Given the description of an element on the screen output the (x, y) to click on. 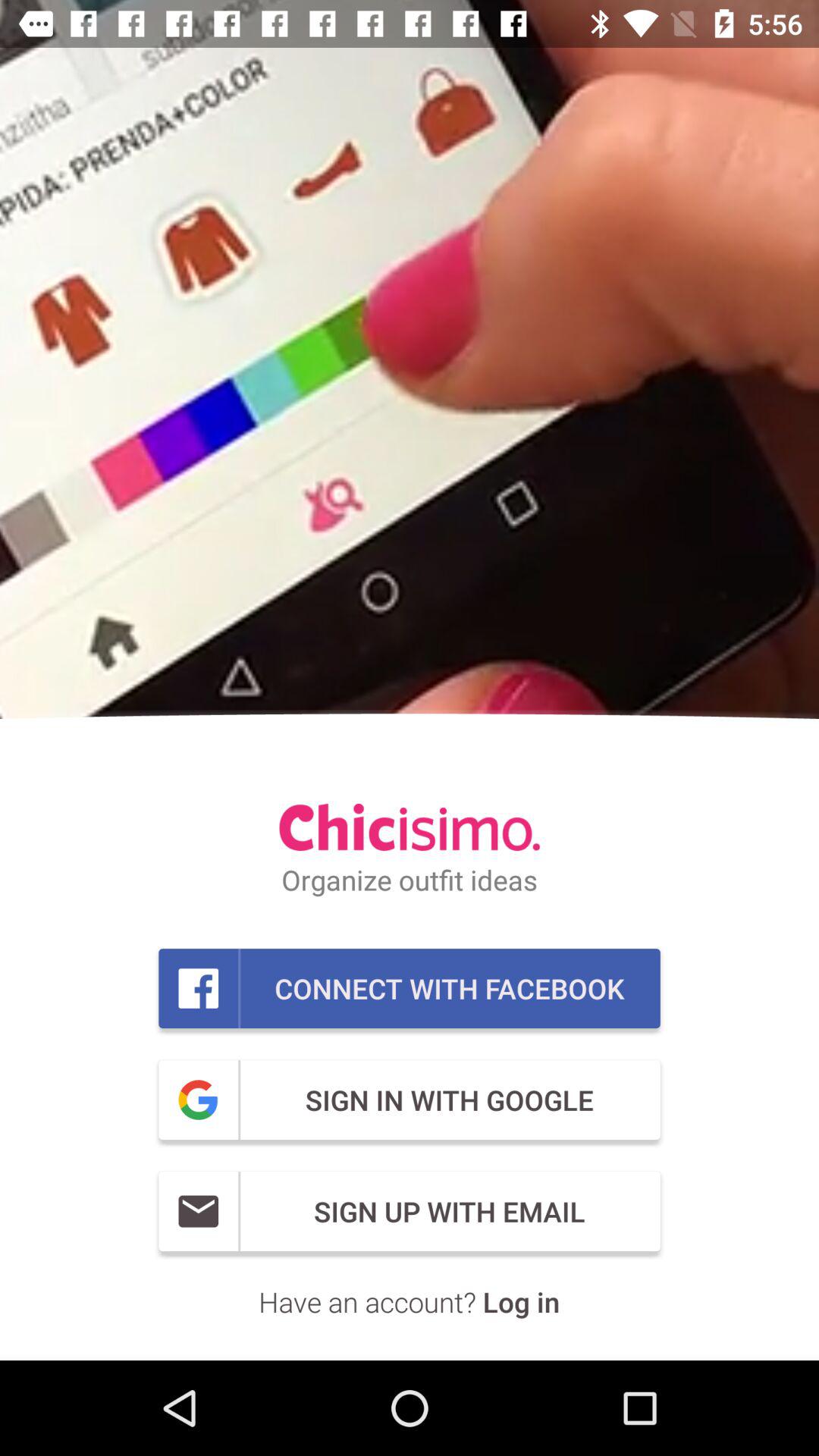
choose the have an account icon (408, 1301)
